Given the description of an element on the screen output the (x, y) to click on. 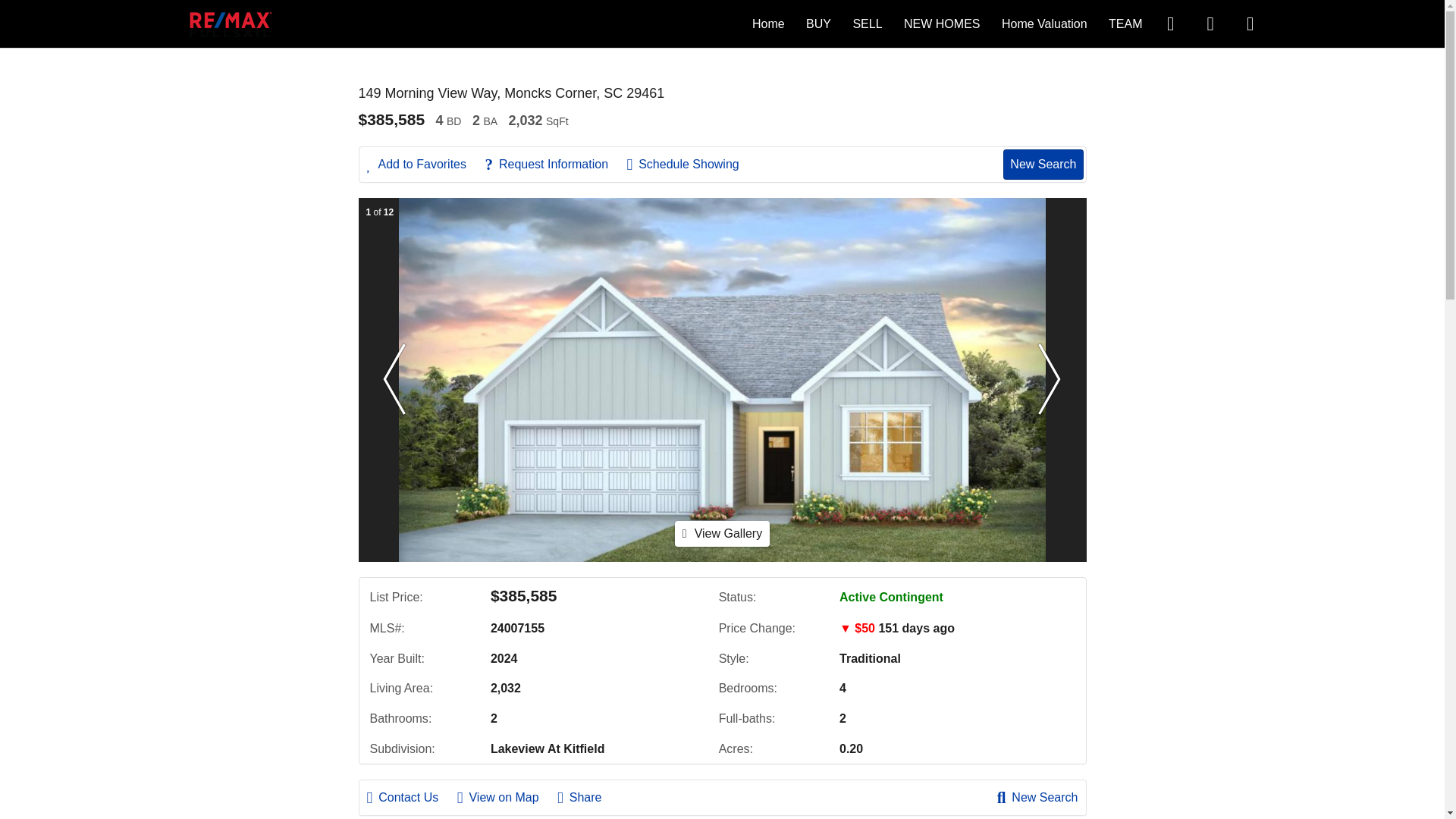
NEW HOMES (941, 23)
Add to Favorites (423, 164)
View Gallery (722, 533)
View Gallery (722, 533)
Share (586, 797)
Home Valuation (1044, 23)
Home (768, 23)
View on Map (505, 797)
TEAM (1124, 23)
Schedule Showing (690, 164)
